Given the description of an element on the screen output the (x, y) to click on. 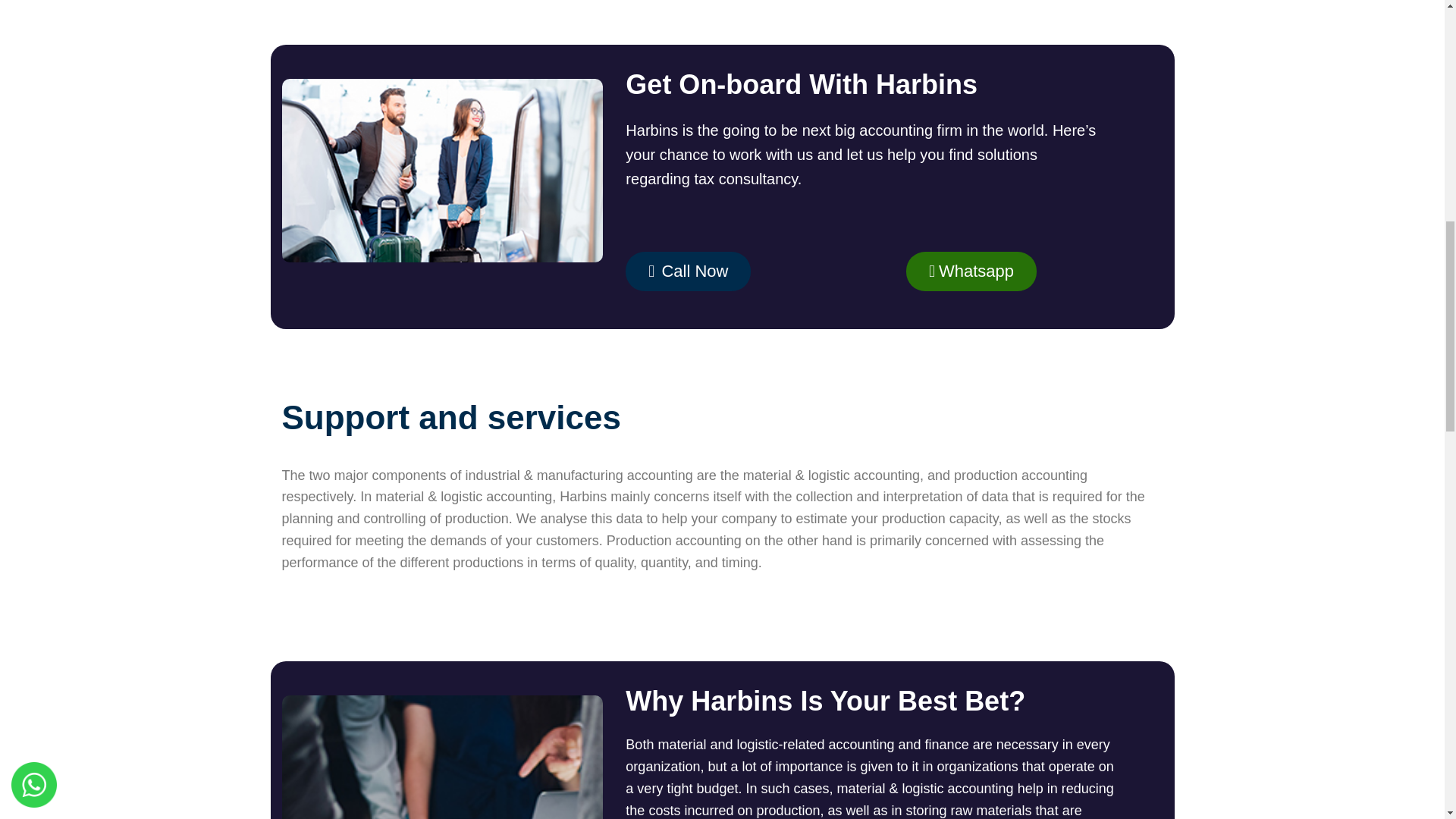
Whatsapp (970, 271)
Call Now (688, 271)
